Given the description of an element on the screen output the (x, y) to click on. 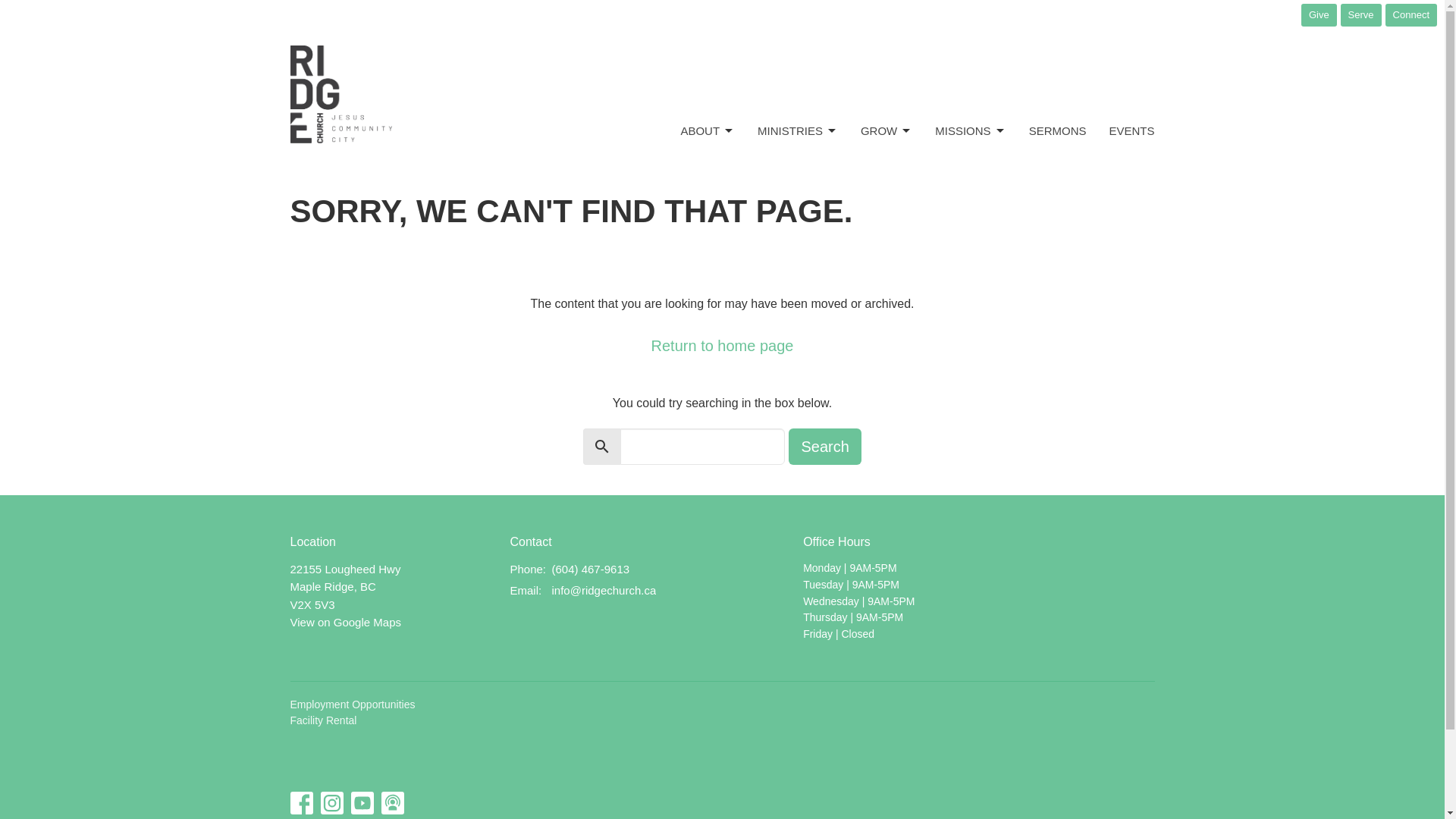
Serve (1360, 15)
GROW (886, 130)
Employment Opportunities (351, 704)
Search (824, 446)
EVENTS (1131, 130)
Return to home page (722, 345)
MISSIONS (970, 130)
SERMONS (1057, 130)
Connect (1411, 15)
Facility Rental (322, 720)
View on Google Maps (344, 621)
ABOUT (707, 130)
translation missing: en.ui.email (523, 590)
MINISTRIES (797, 130)
Give (1318, 15)
